Given the description of an element on the screen output the (x, y) to click on. 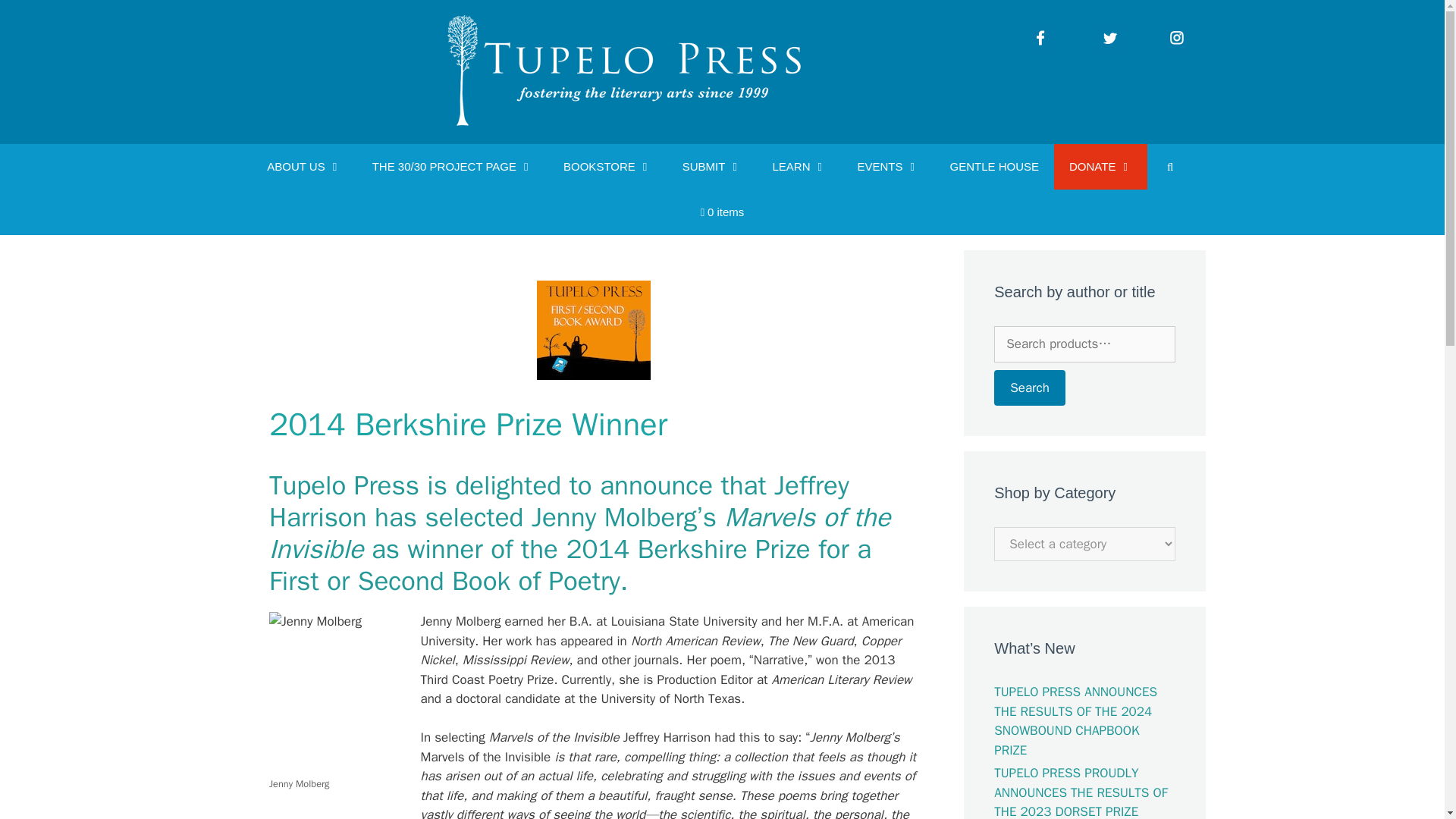
SUBMIT (711, 166)
Start shopping (722, 212)
ABOUT US (303, 166)
BOOKSTORE (607, 166)
